Given the description of an element on the screen output the (x, y) to click on. 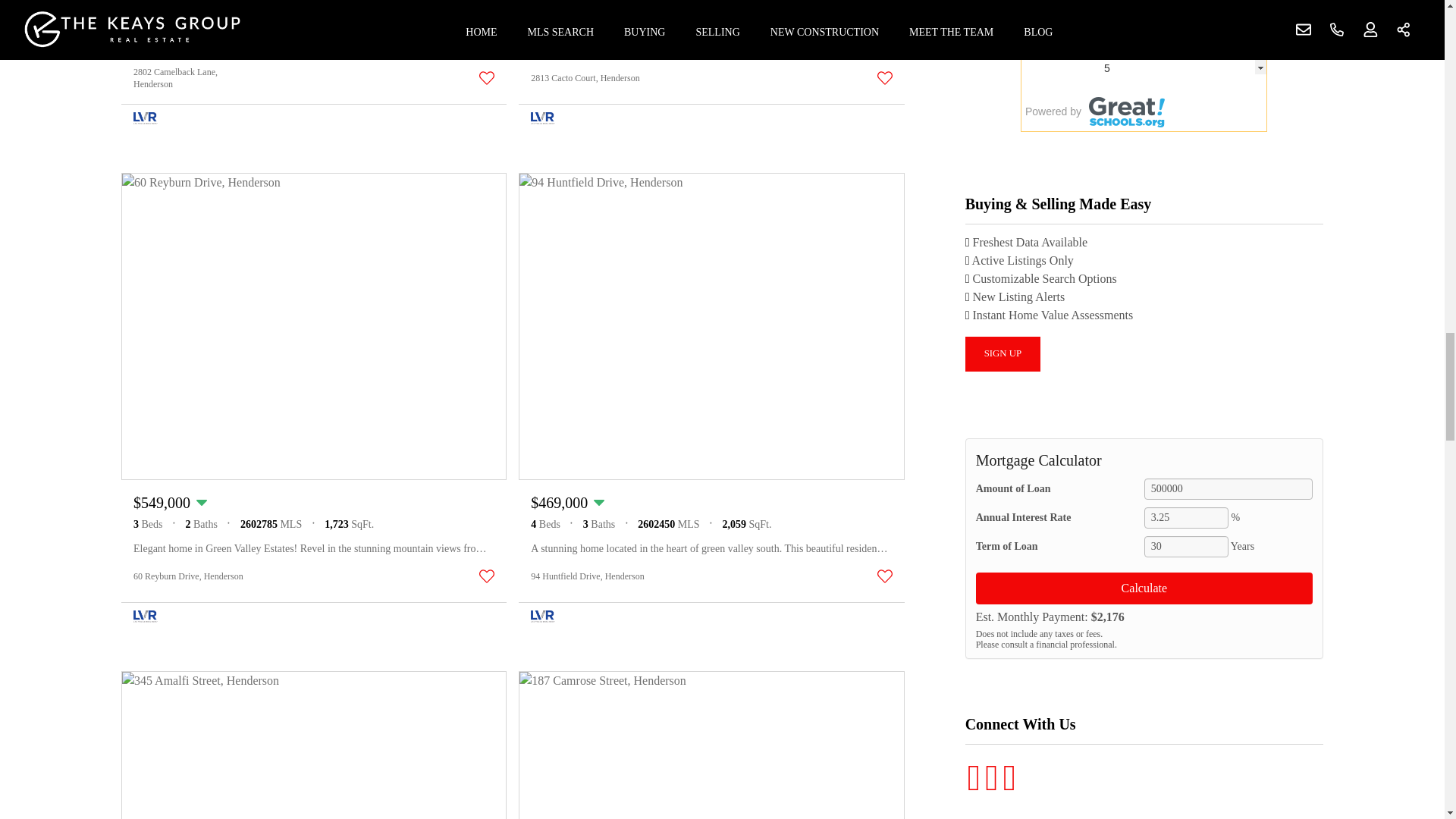
500000 (1228, 488)
3.25 (1186, 517)
30 (1186, 546)
